Given the description of an element on the screen output the (x, y) to click on. 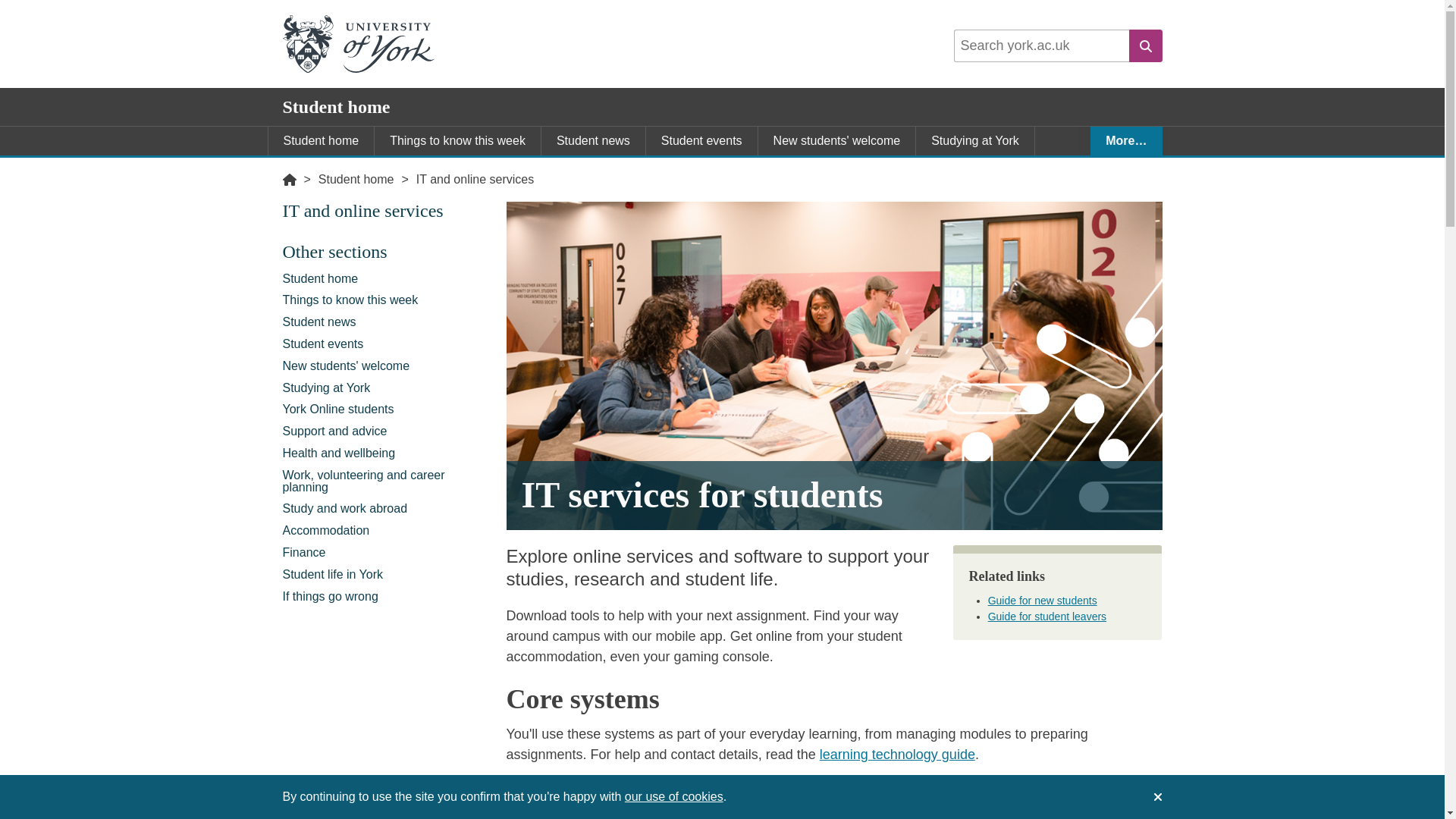
Studying at York (386, 387)
Home (288, 178)
Student home (386, 278)
Student home (356, 178)
Study and work abroad (386, 508)
Work, volunteering and career planning (809, 169)
Health and wellbeing (386, 453)
Support and advice (477, 169)
Things to know this week (386, 300)
Student events (386, 344)
Student news (386, 322)
Student events (701, 140)
Study and work abroad (1009, 169)
Support and advice (386, 431)
Studying at York (974, 140)
